Given the description of an element on the screen output the (x, y) to click on. 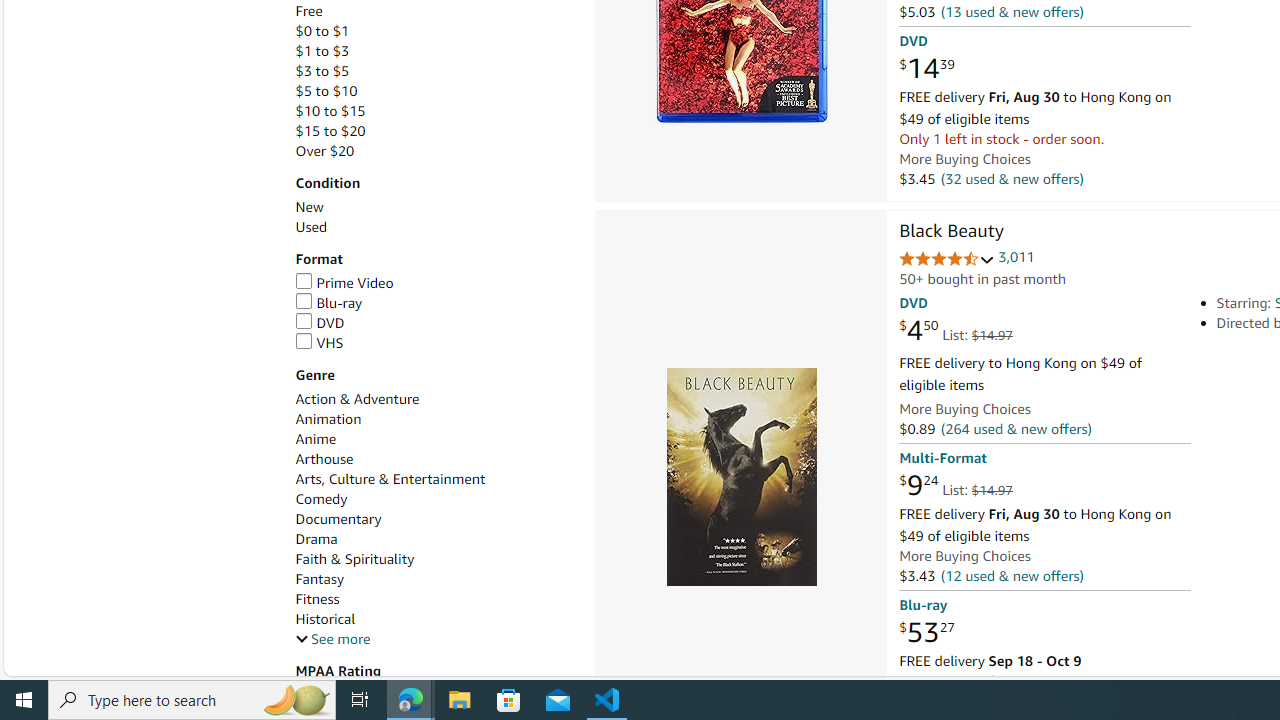
$9.24 List: $14.97 (955, 485)
$3 to $5 (434, 71)
$3 to $5 (321, 70)
See more, Genre (332, 639)
(264 used & new offers) (1015, 429)
Animation (434, 419)
Black Beauty (951, 232)
Documentary (434, 519)
Anime (434, 439)
Fantasy (319, 579)
Prime Video (344, 282)
Comedy (321, 499)
3,011 (1016, 257)
Arthouse (324, 459)
New (434, 207)
